Given the description of an element on the screen output the (x, y) to click on. 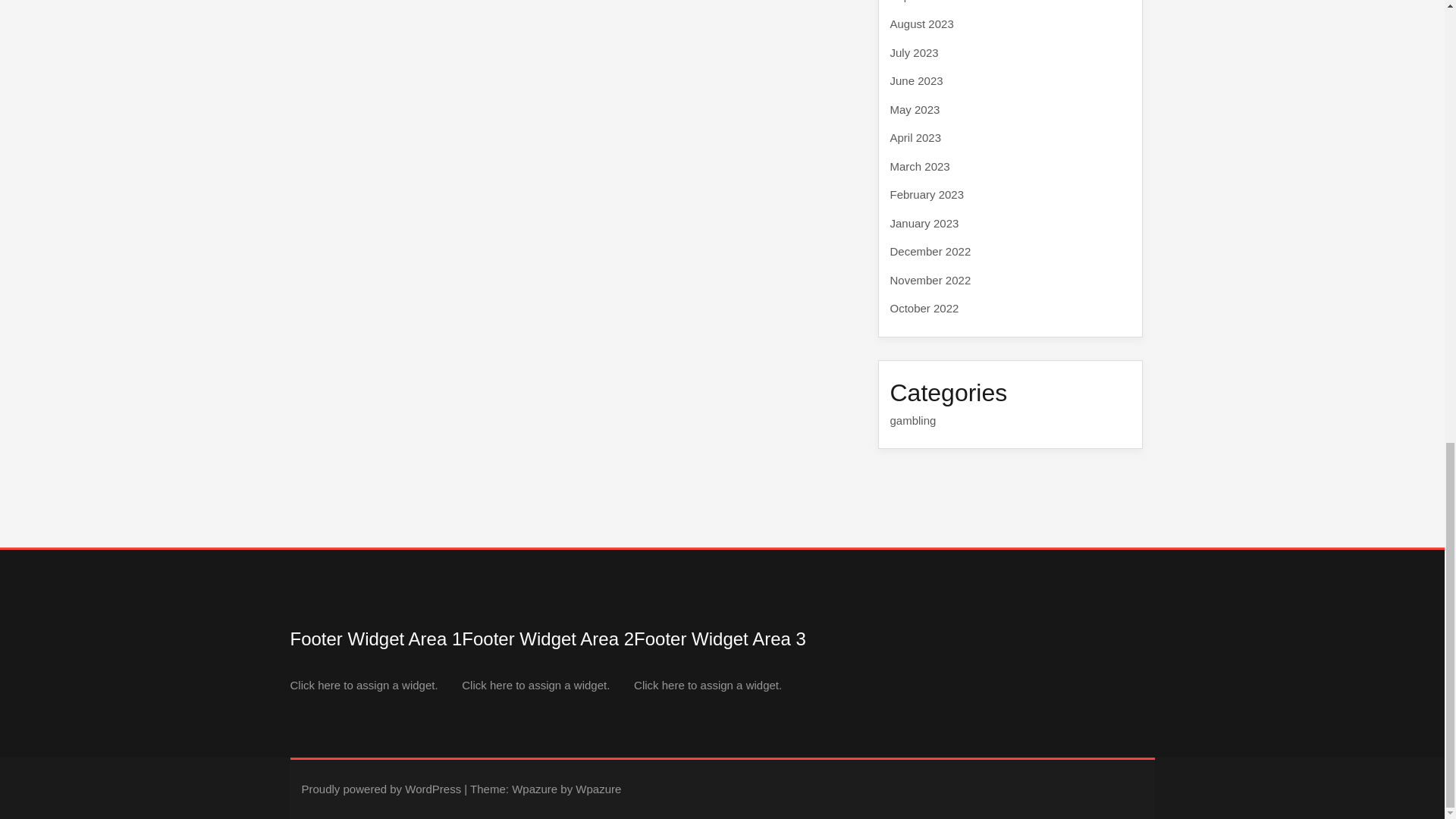
July 2023 (914, 51)
August 2023 (921, 23)
April 2023 (915, 137)
March 2023 (919, 164)
October 2022 (924, 308)
November 2022 (930, 278)
January 2023 (924, 223)
June 2023 (916, 80)
February 2023 (926, 194)
gambling (912, 420)
Click here to assign a widget. (707, 684)
May 2023 (914, 109)
December 2022 (930, 250)
Click here to assign a widget. (363, 684)
Click here to assign a widget. (535, 684)
